Given the description of an element on the screen output the (x, y) to click on. 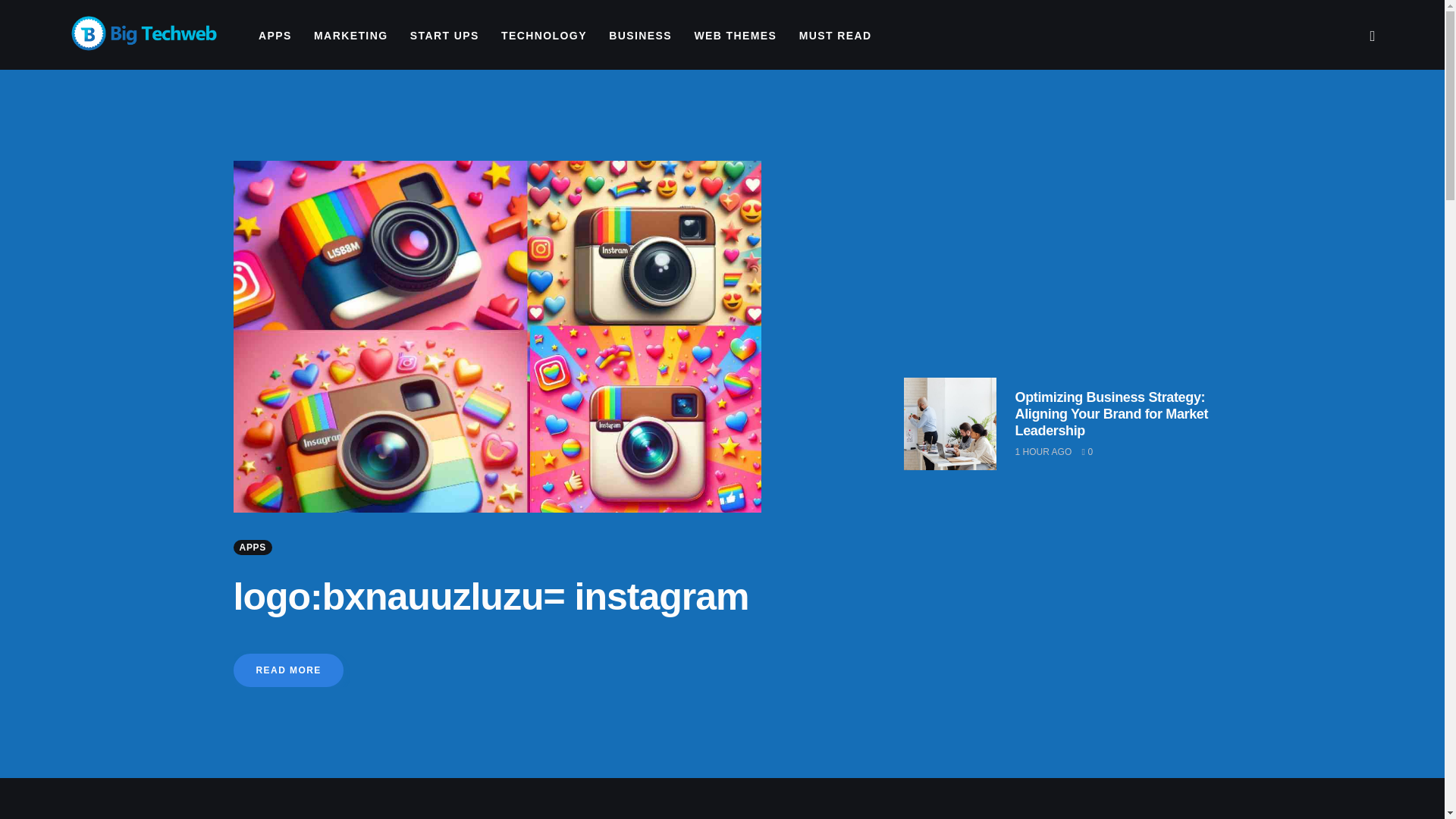
MUST READ (834, 36)
MARKETING (350, 36)
START UPS (443, 36)
APPS (274, 36)
TECHNOLOGY (542, 36)
BUSINESS (640, 36)
WEB THEMES (734, 36)
